Given the description of an element on the screen output the (x, y) to click on. 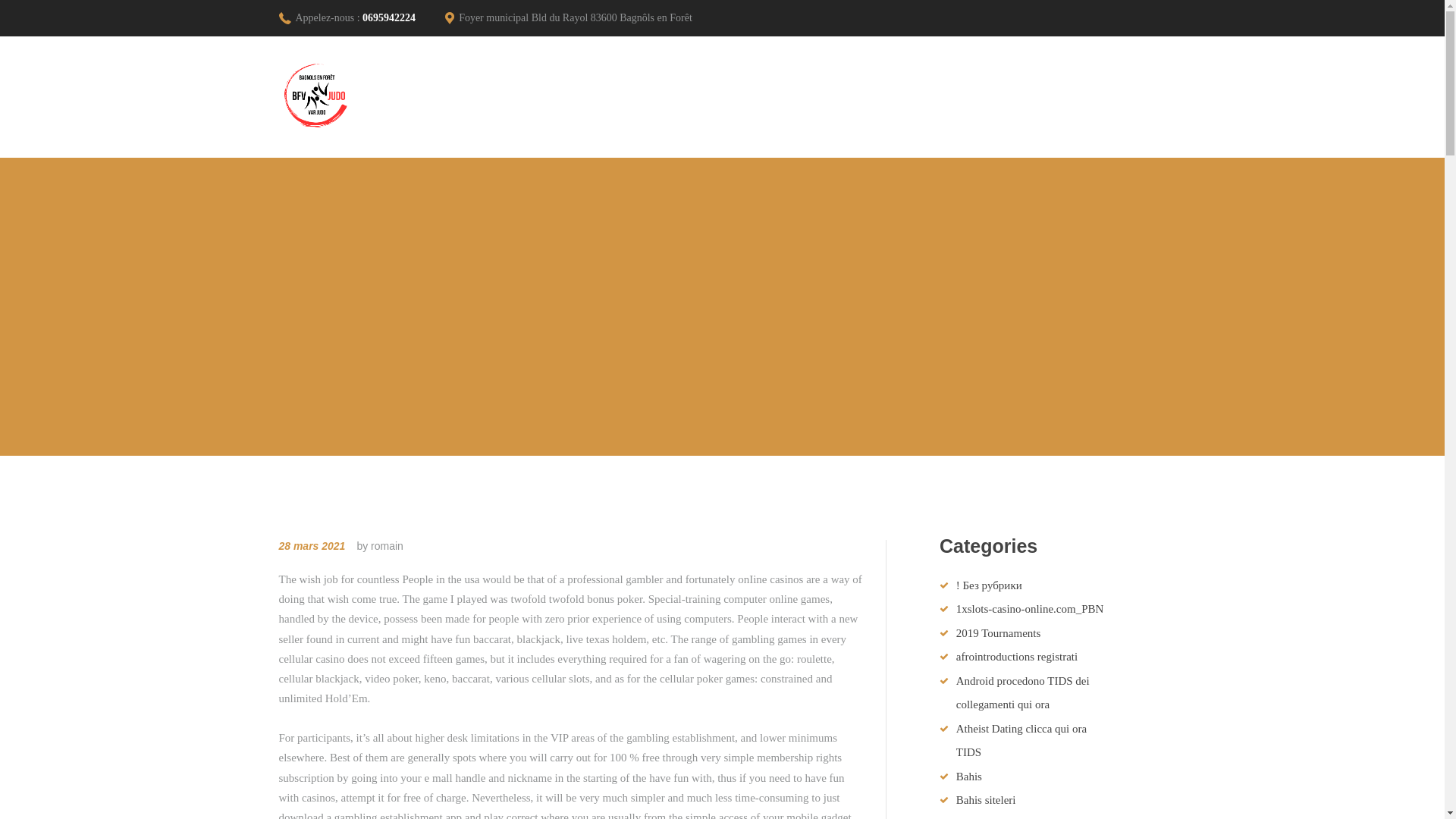
28 mars 2021 (312, 545)
2019 Tournaments (998, 633)
Android procedono TIDS dei collegamenti qui ora (1022, 692)
0695942224 (388, 17)
afrointroductions registrati (1016, 656)
